Given the description of an element on the screen output the (x, y) to click on. 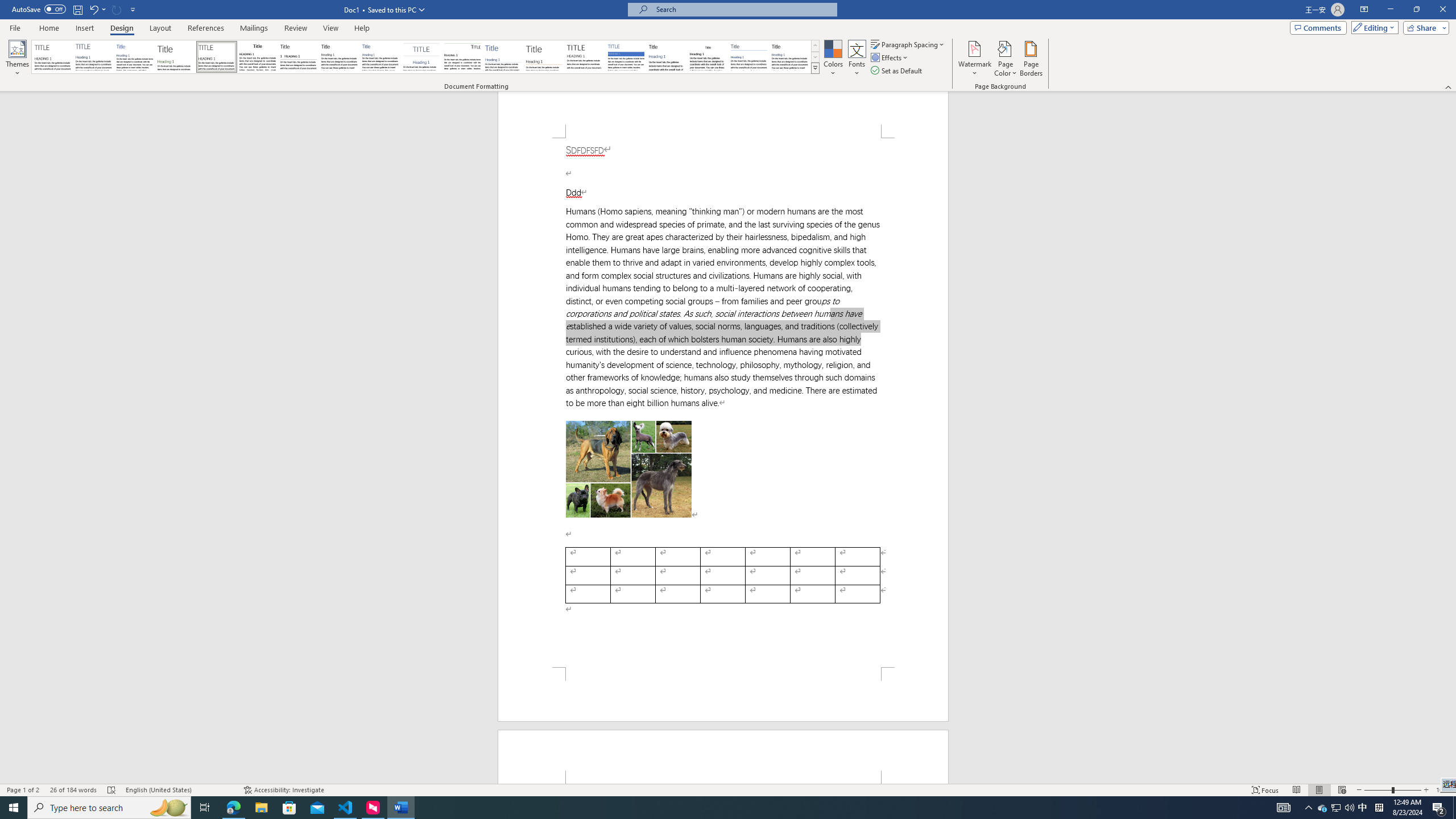
Style Set (814, 67)
Watermark (974, 58)
Set as Default (897, 69)
Page 1 content (723, 402)
Lines (Simple) (503, 56)
Can't Repeat (117, 9)
